Given the description of an element on the screen output the (x, y) to click on. 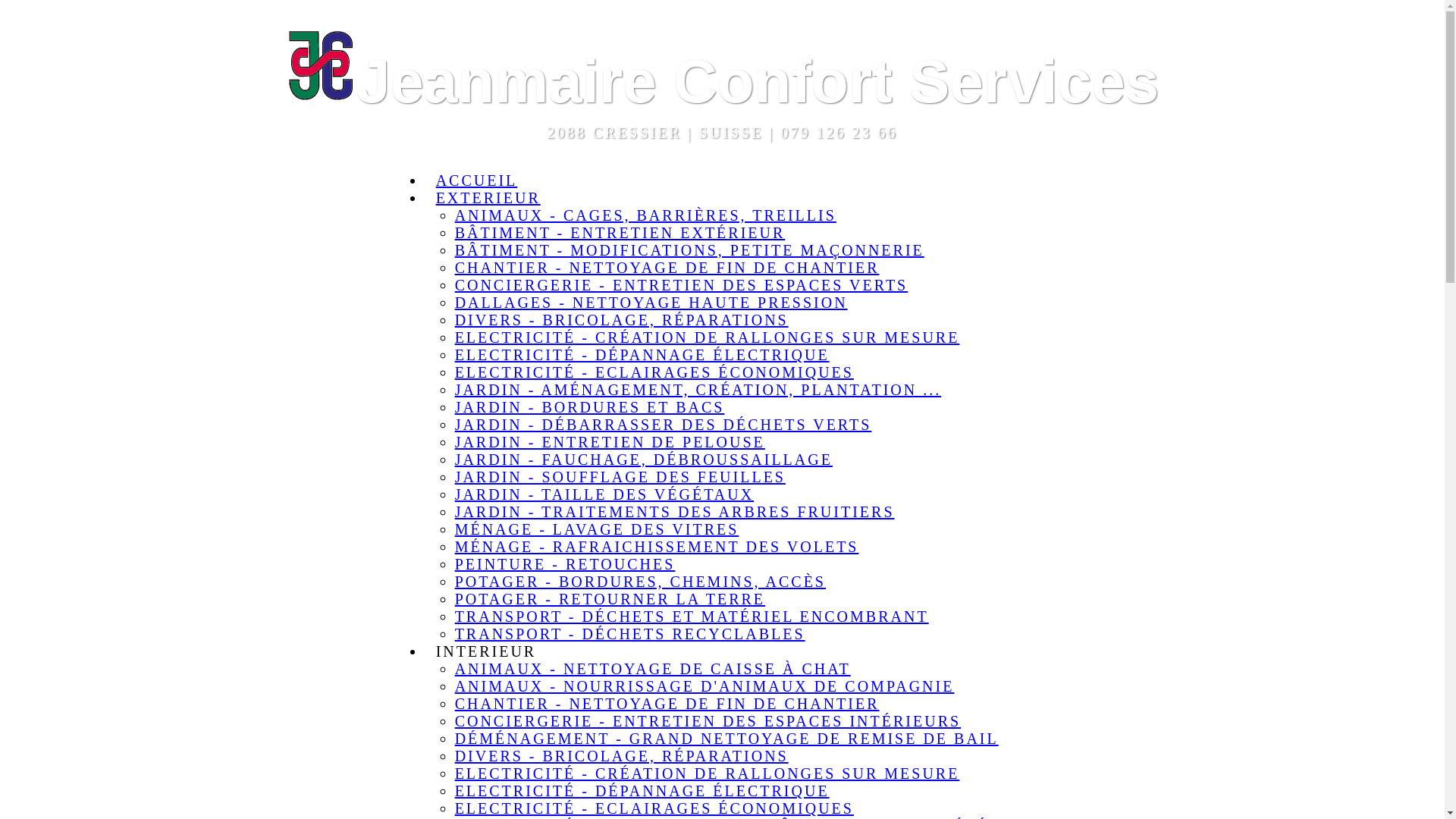
CHANTIER - NETTOYAGE DE FIN DE CHANTIER Element type: text (667, 703)
CHANTIER - NETTOYAGE DE FIN DE CHANTIER Element type: text (667, 267)
ACCUEIL Element type: text (476, 180)
EXTERIEUR Element type: text (488, 197)
INTERIEUR Element type: text (486, 651)
PEINTURE - RETOUCHES Element type: text (565, 563)
JARDIN - TRAITEMENTS DES ARBRES FRUITIERS Element type: text (674, 511)
JARDIN - BORDURES ET BACS Element type: text (589, 406)
JARDIN - SOUFFLAGE DES FEUILLES Element type: text (620, 476)
ANIMAUX - NOURRISSAGE D'ANIMAUX DE COMPAGNIE Element type: text (704, 685)
CONCIERGERIE - ENTRETIEN DES ESPACES VERTS Element type: text (681, 284)
POTAGER - RETOURNER LA TERRE Element type: text (610, 598)
DALLAGES - NETTOYAGE HAUTE PRESSION Element type: text (651, 302)
JARDIN - ENTRETIEN DE PELOUSE Element type: text (610, 441)
